Given the description of an element on the screen output the (x, y) to click on. 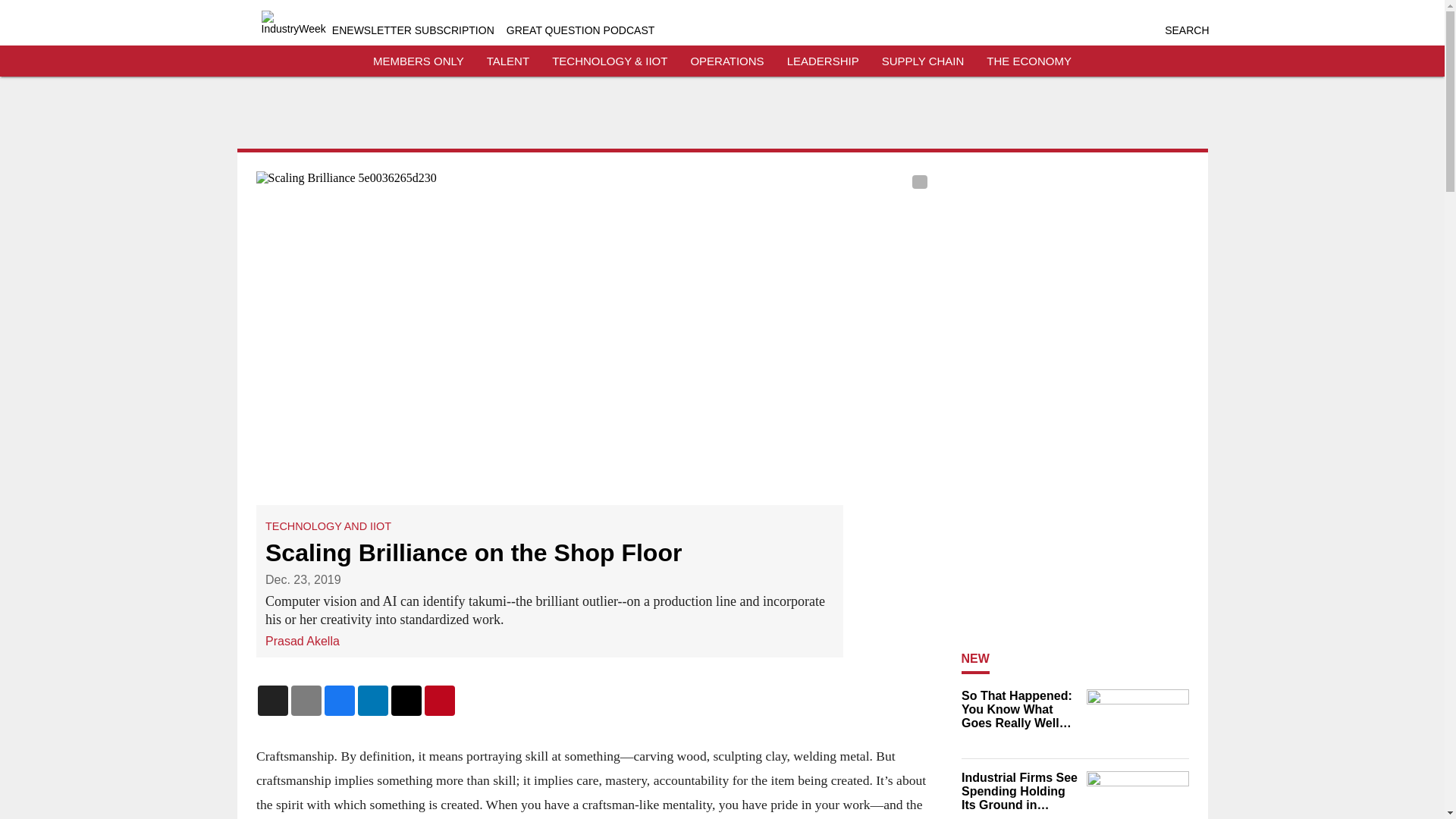
MEMBERS ONLY (418, 60)
TALENT (507, 60)
GREAT QUESTION PODCAST (580, 30)
SEARCH (1186, 30)
THE ECONOMY (1029, 60)
OPERATIONS (726, 60)
TECHNOLOGY AND IIOT (327, 526)
LEADERSHIP (823, 60)
SUPPLY CHAIN (922, 60)
